Given the description of an element on the screen output the (x, y) to click on. 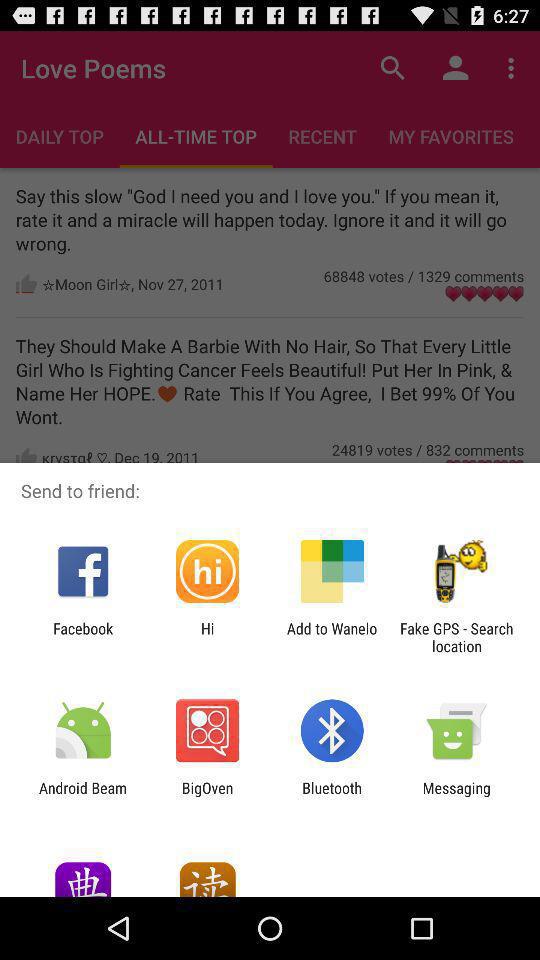
press hi app (207, 637)
